Given the description of an element on the screen output the (x, y) to click on. 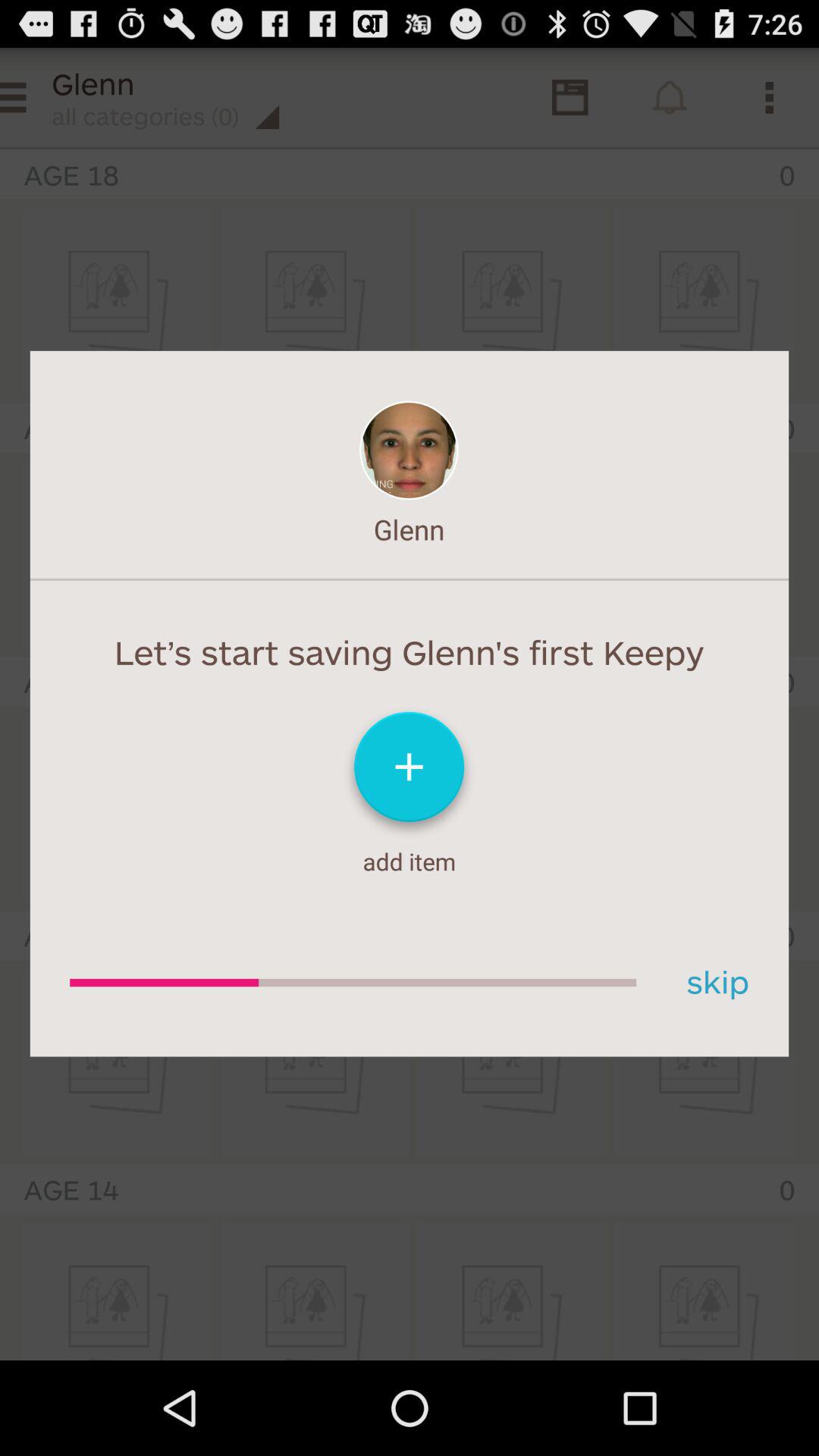
add an art piece (409, 773)
